Given the description of an element on the screen output the (x, y) to click on. 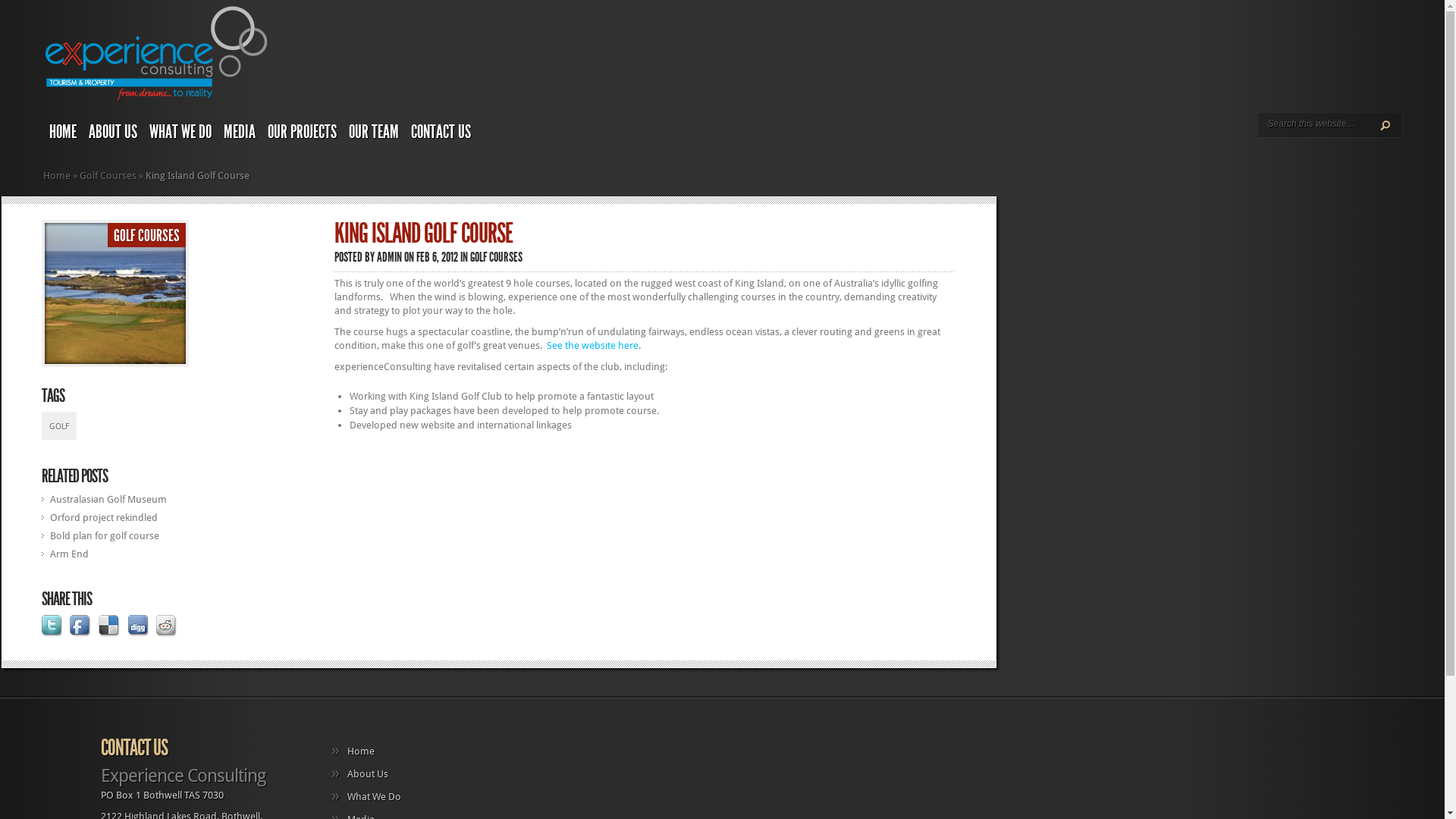
ADMIN Element type: text (388, 256)
MEDIA Element type: text (239, 133)
WHAT WE DO Element type: text (180, 133)
What We Do Element type: text (366, 796)
See the website here Element type: text (592, 345)
GOLF COURSES Element type: text (146, 235)
HOME Element type: text (62, 133)
Home Element type: text (56, 175)
Arm End Element type: text (69, 553)
Golf Courses Element type: text (107, 175)
Bold plan for golf course Element type: text (104, 535)
Australasian Golf Museum Element type: text (108, 499)
Orford project rekindled Element type: text (103, 517)
OUR TEAM Element type: text (373, 133)
About Us Element type: text (360, 773)
CONTACT US Element type: text (440, 133)
OUR PROJECTS Element type: text (301, 133)
GOLF Element type: text (58, 425)
ABOUT US Element type: text (112, 133)
GOLF COURSES Element type: text (496, 256)
Home Element type: text (353, 750)
